Given the description of an element on the screen output the (x, y) to click on. 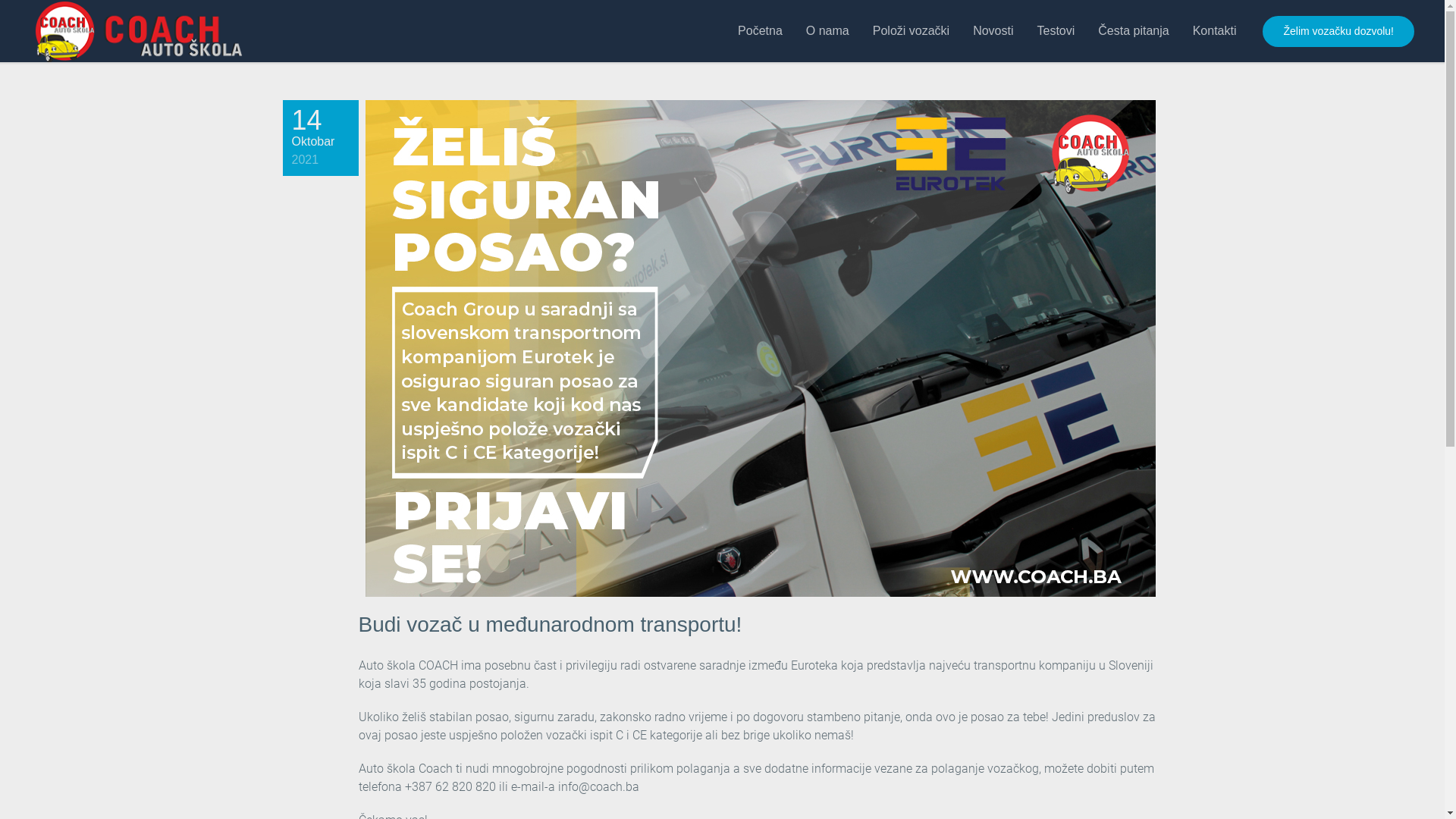
Kontakti Element type: text (1214, 31)
Novosti Element type: text (992, 31)
O nama Element type: text (827, 31)
Testovi Element type: text (1055, 31)
